Given the description of an element on the screen output the (x, y) to click on. 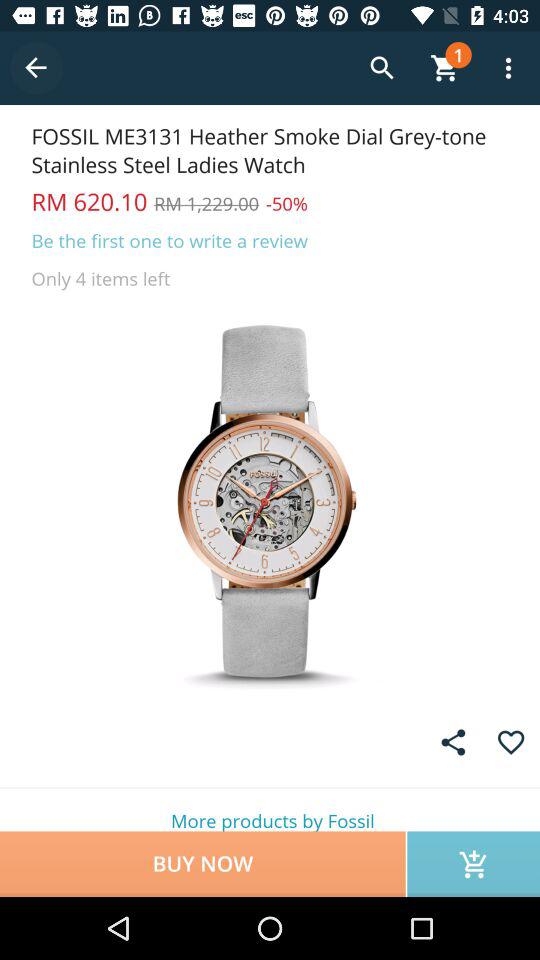
select the item above the only 4 items icon (169, 240)
